Given the description of an element on the screen output the (x, y) to click on. 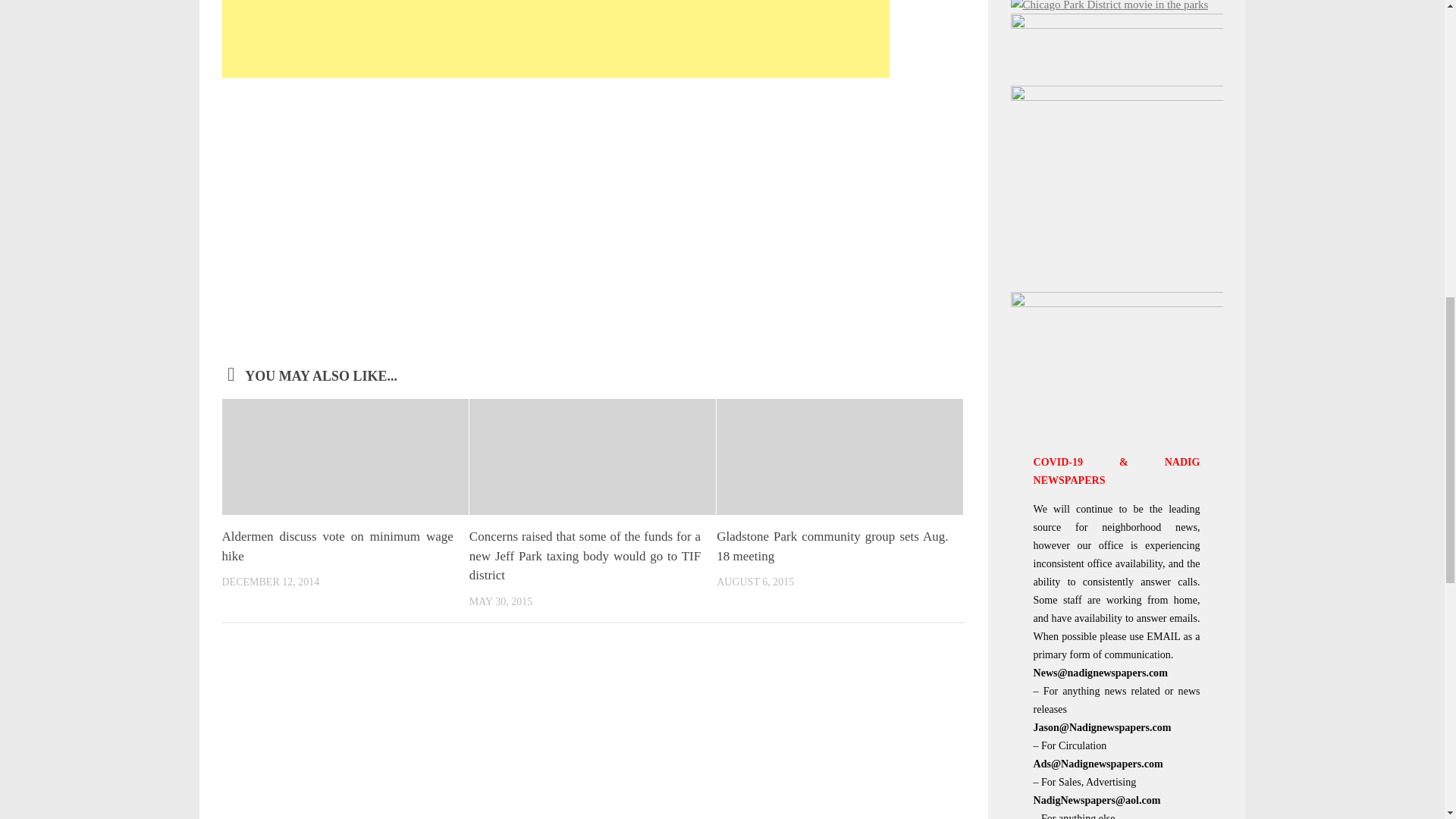
Aldermen discuss vote on minimum wage hike (336, 546)
Gladstone Park community group sets Aug. 18 meeting (831, 546)
